Given the description of an element on the screen output the (x, y) to click on. 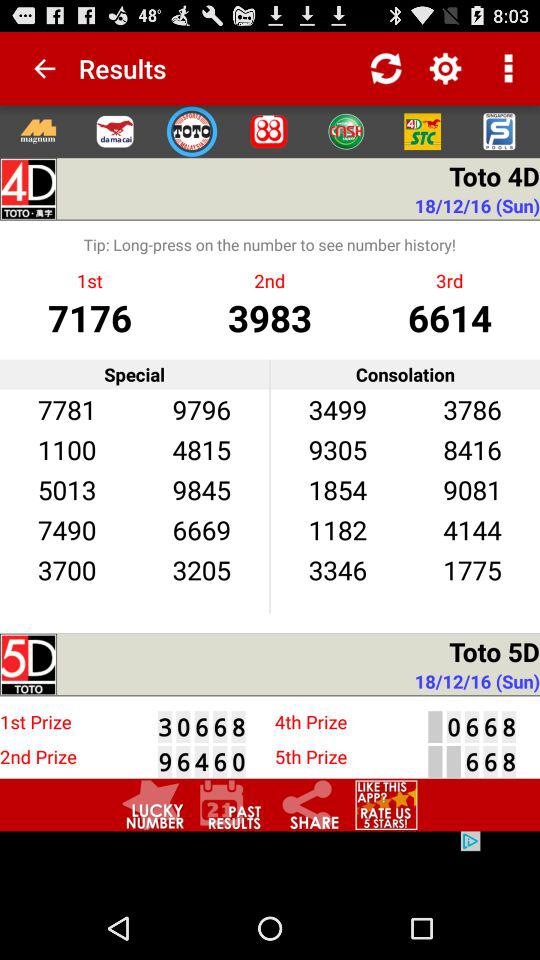
open item next to the results (36, 68)
